Given the description of an element on the screen output the (x, y) to click on. 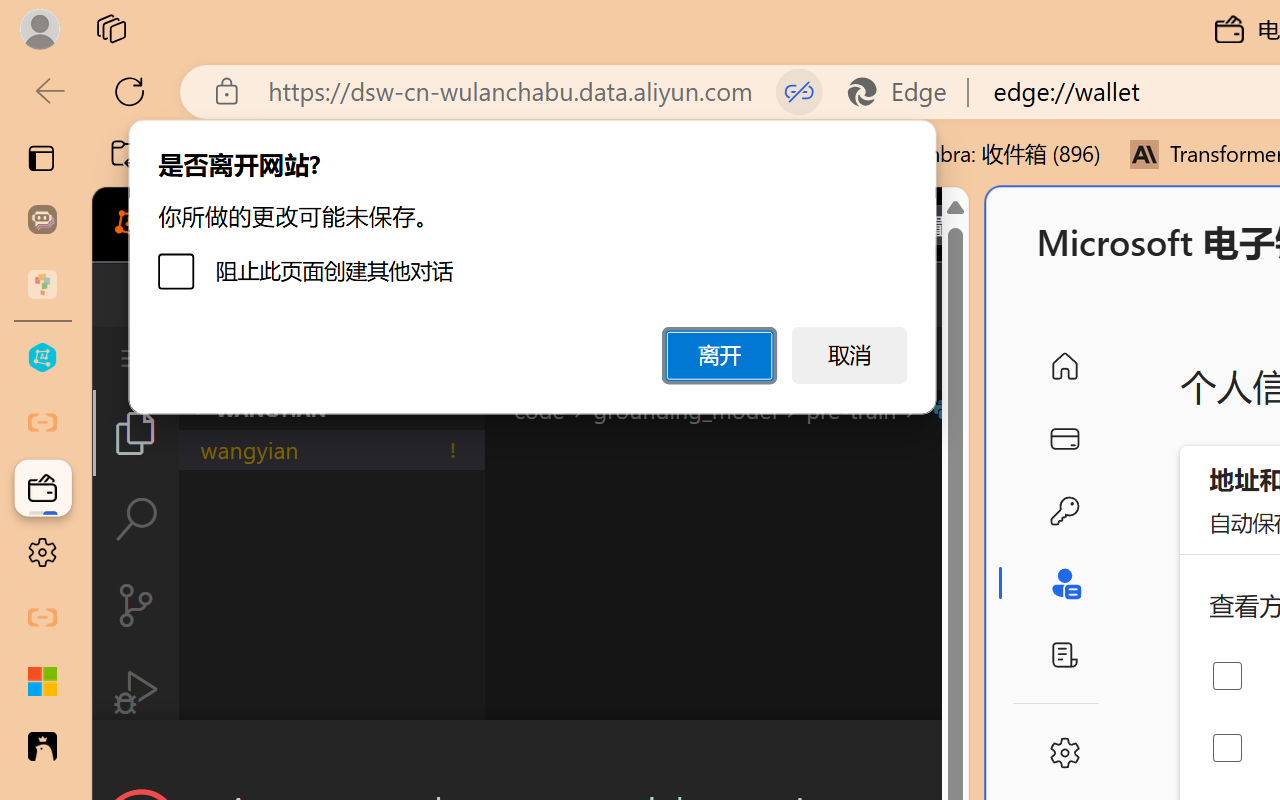
Adjust indents and spacing - Microsoft Support (42, 681)
Run and Debug (Ctrl+Shift+D) (135, 692)
Close Dialog (959, 756)
Class: actions-container (529, 756)
